Given the description of an element on the screen output the (x, y) to click on. 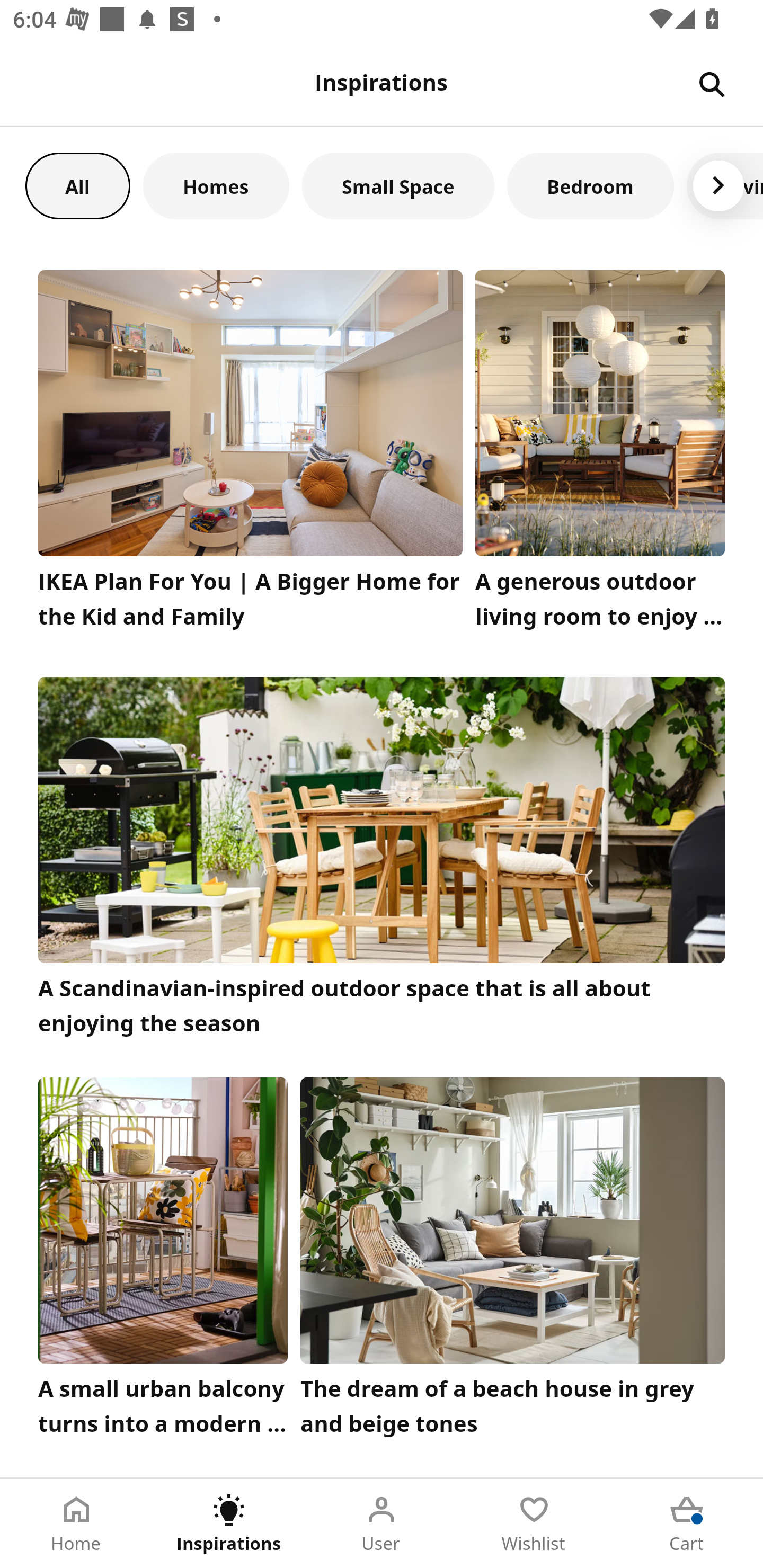
All (77, 185)
Homes (216, 185)
Small Space (398, 185)
Bedroom (590, 185)
The dream of a beach house in grey and beige tones (512, 1261)
Home
Tab 1 of 5 (76, 1522)
Inspirations
Tab 2 of 5 (228, 1522)
User
Tab 3 of 5 (381, 1522)
Wishlist
Tab 4 of 5 (533, 1522)
Cart
Tab 5 of 5 (686, 1522)
